Given the description of an element on the screen output the (x, y) to click on. 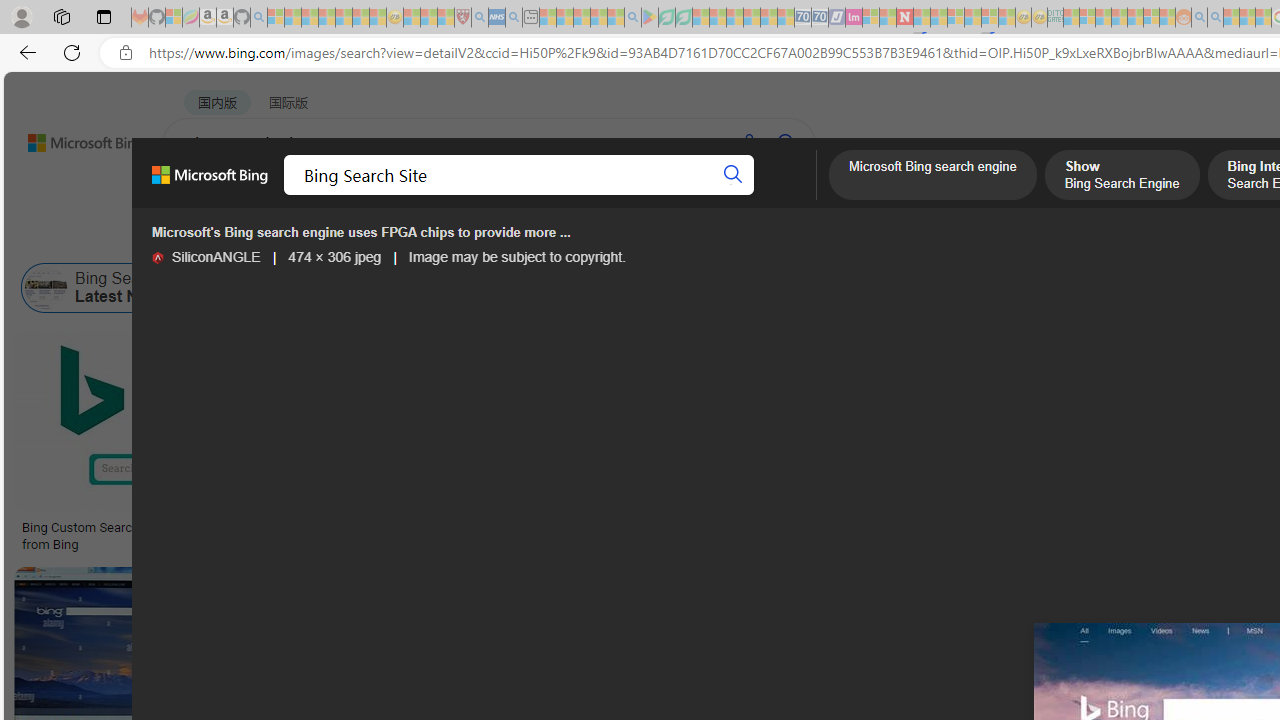
Bing Custom Search: A New Site Search Solution from Bing (169, 535)
Bing - SEOLend (386, 528)
Bing as Search Engine (301, 287)
Date (591, 237)
MSNBC - MSN - Sleeping (1071, 17)
Workspaces (61, 16)
Bing Search Latest News (45, 287)
Bluey: Let's Play! - Apps on Google Play - Sleeping (649, 17)
The Weather Channel - MSN - Sleeping (309, 17)
Expert Portfolios - Sleeping (1119, 17)
